Given the description of an element on the screen output the (x, y) to click on. 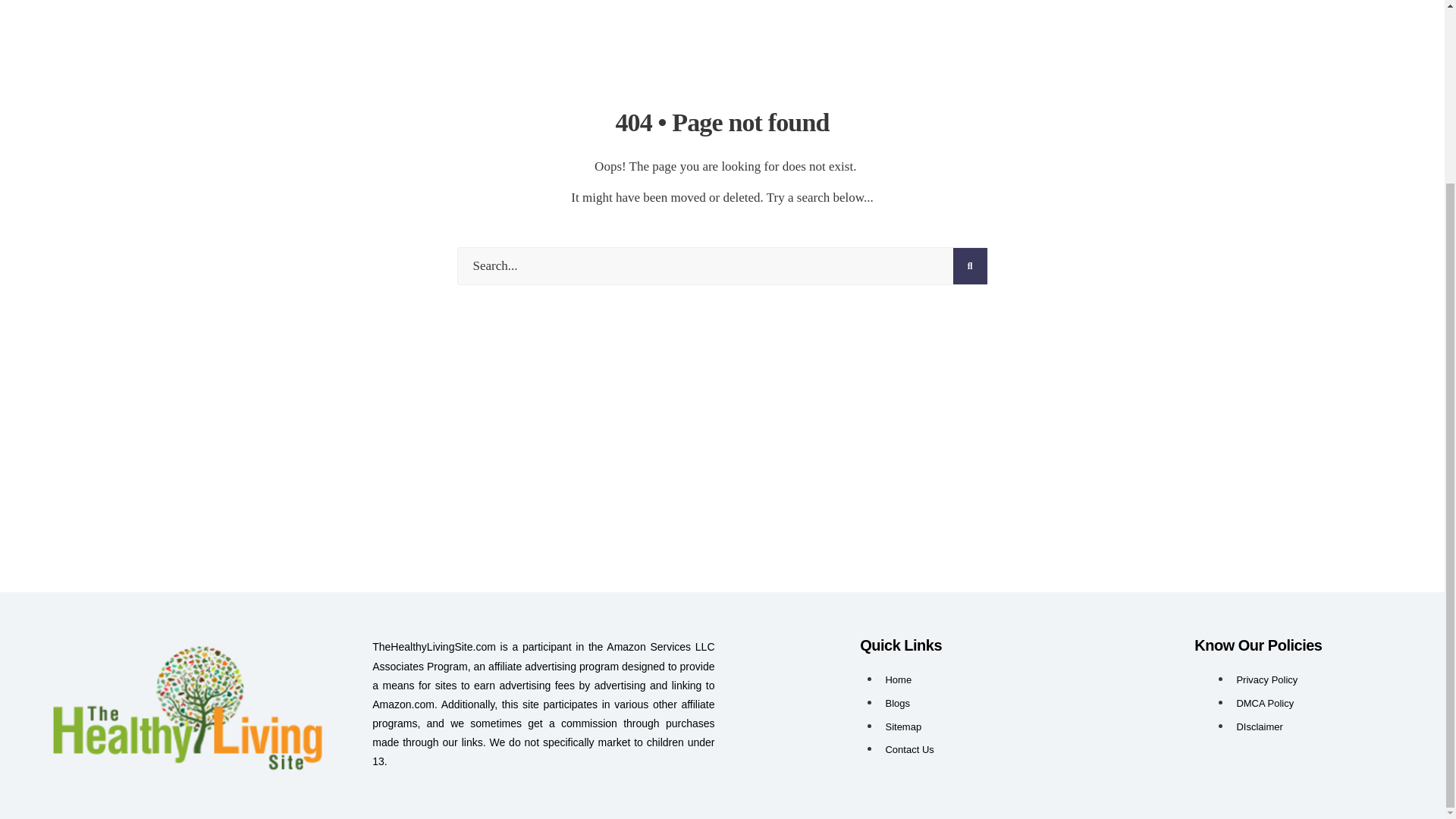
DMCA Policy (1265, 703)
Search... (722, 266)
Blogs (897, 703)
Contact Us (909, 749)
DIsclaimer (1259, 726)
Sitemap (903, 726)
Home (898, 679)
Privacy Policy (1266, 679)
